Given the description of an element on the screen output the (x, y) to click on. 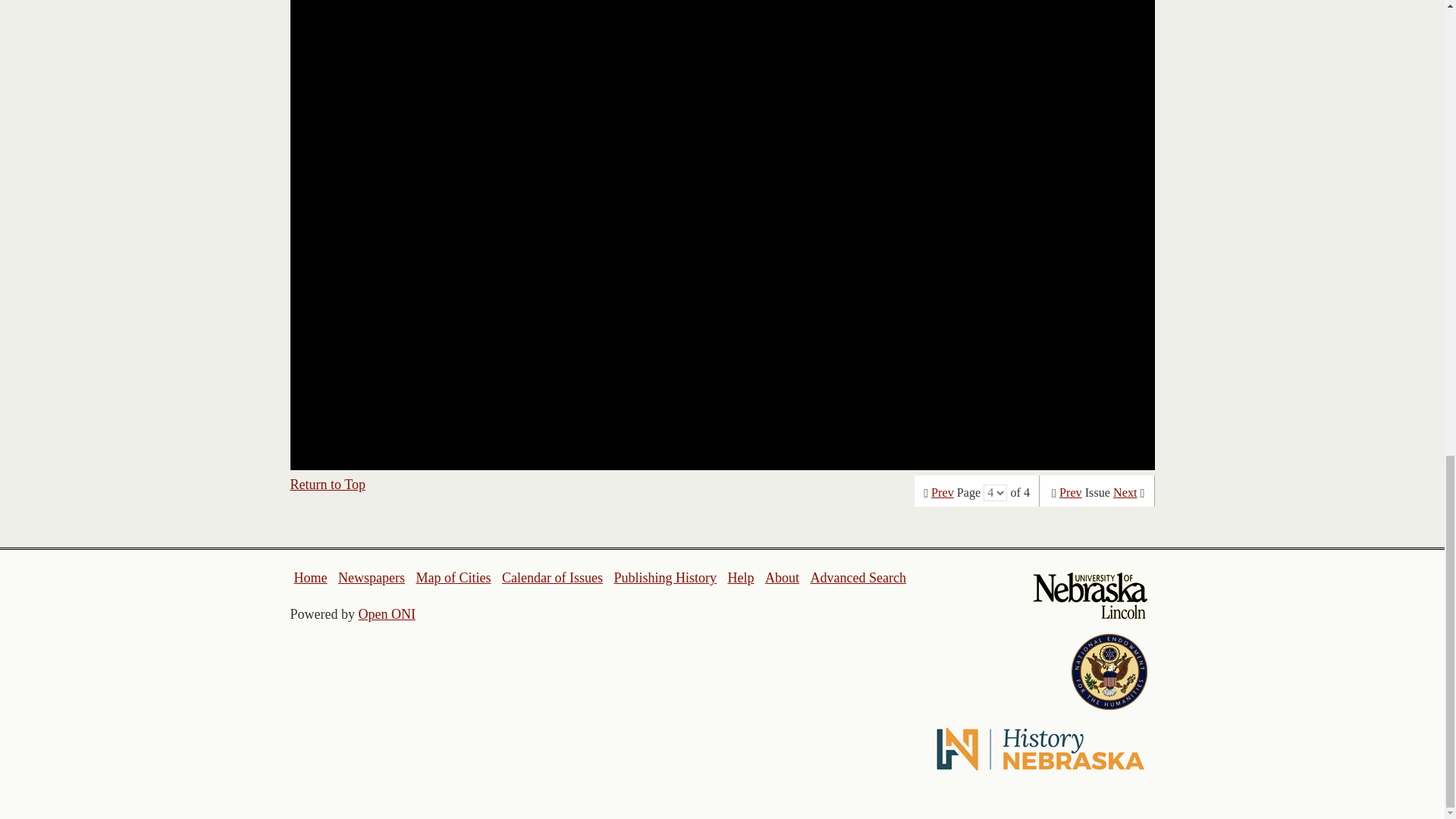
Prev (942, 492)
Next (1125, 492)
Publishing History (664, 577)
Map of Cities (452, 577)
Calendar of Issues (552, 577)
Newspapers (370, 577)
Return to Top (327, 484)
Open ONI (386, 613)
Help (740, 577)
About (782, 577)
Advanced Search (857, 577)
Home (310, 577)
Prev (1070, 492)
